Given the description of an element on the screen output the (x, y) to click on. 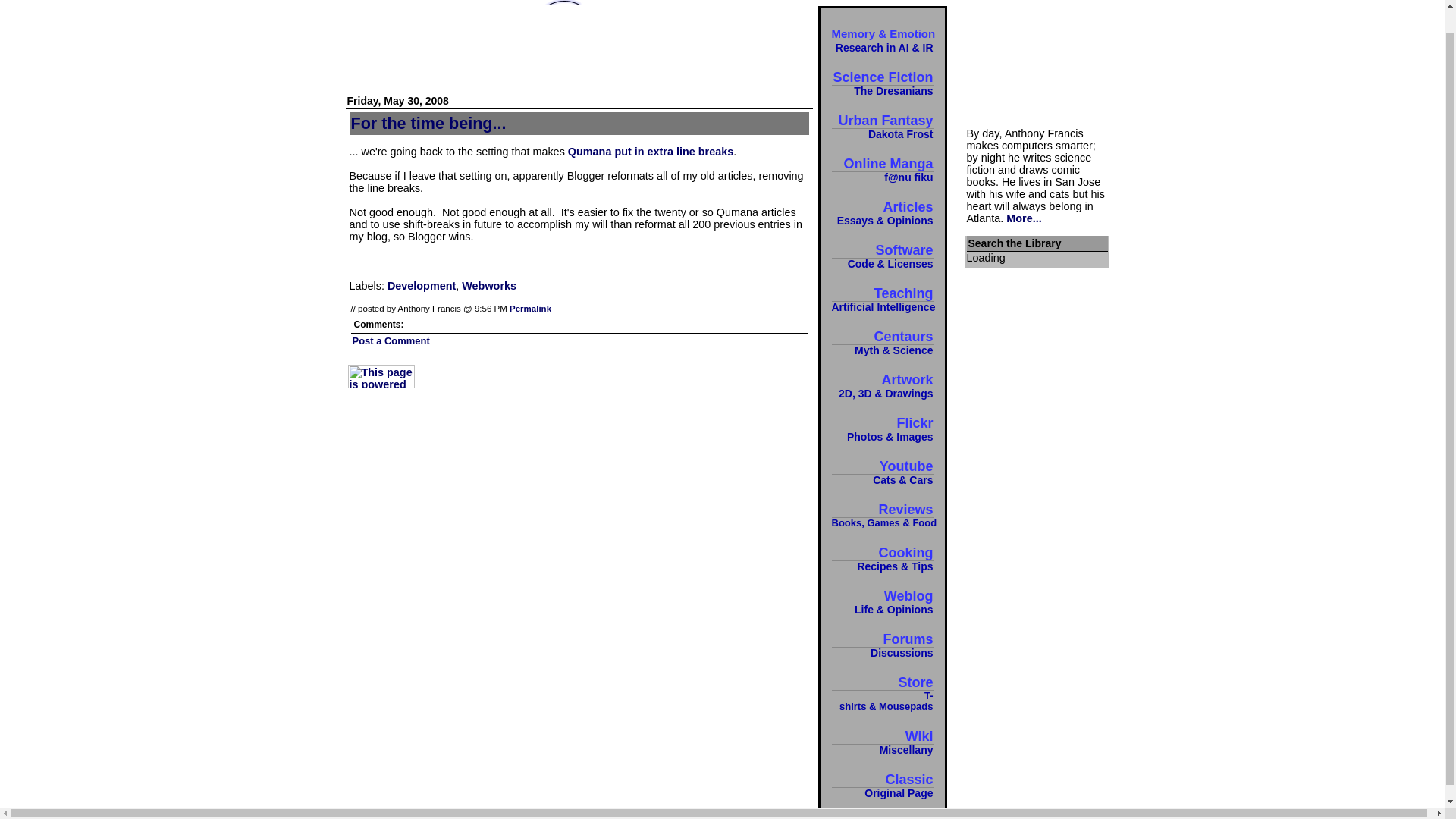
Permalink (882, 785)
permanent link (530, 307)
Development (882, 82)
Qumana put in extra line breaks (530, 307)
Post a Comment (421, 285)
For the time being... (650, 151)
Webworks (390, 340)
More... (427, 122)
permanent link (882, 298)
